Given the description of an element on the screen output the (x, y) to click on. 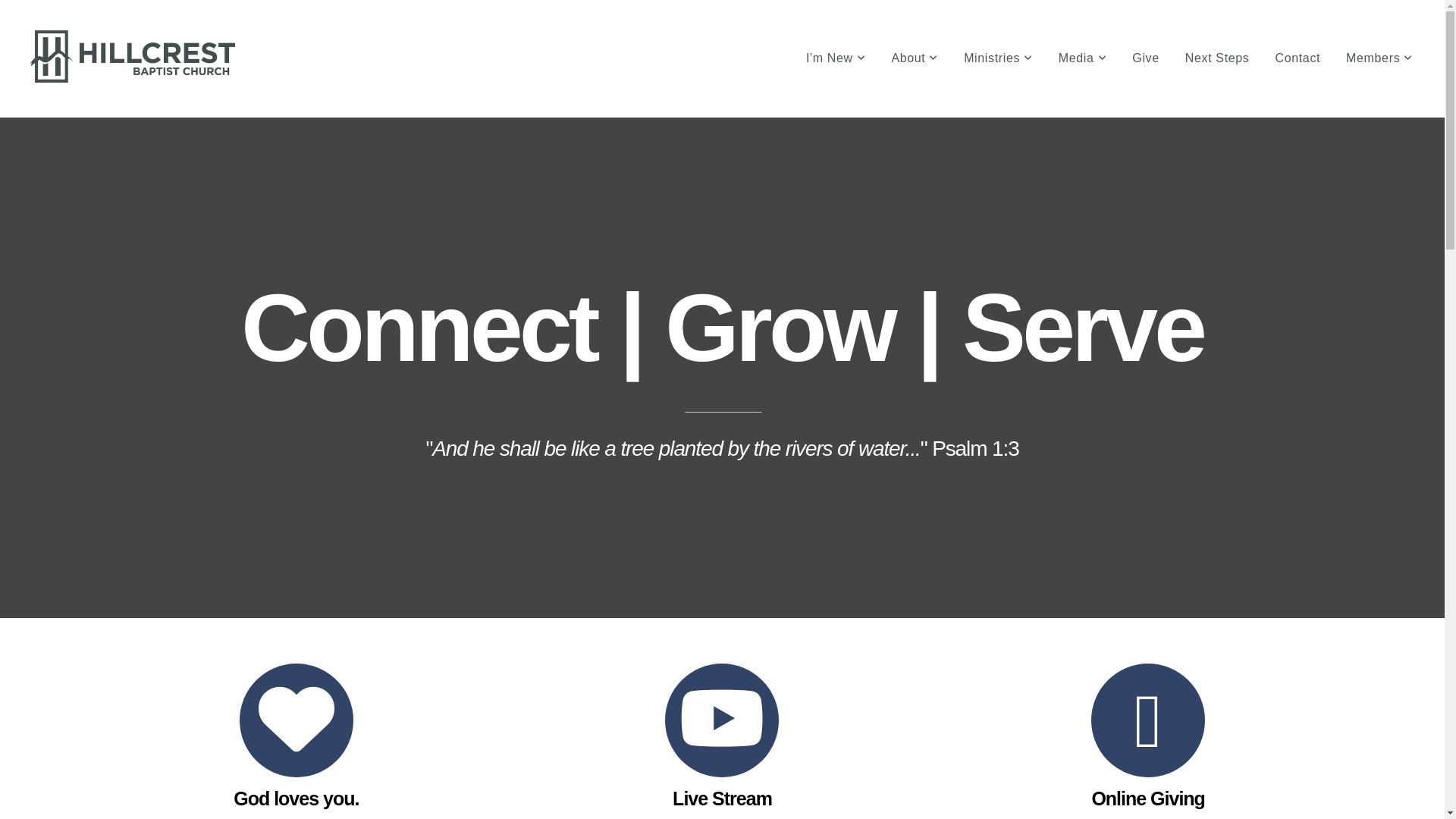
About  Element type: text (914, 57)
I'm New  Element type: text (835, 57)
Media  Element type: text (1082, 57)
Next Steps Element type: text (1217, 57)
Members  Element type: text (1379, 57)
Contact Element type: text (1297, 57)
Ministries  Element type: text (998, 57)
Give Element type: text (1145, 57)
